Given the description of an element on the screen output the (x, y) to click on. 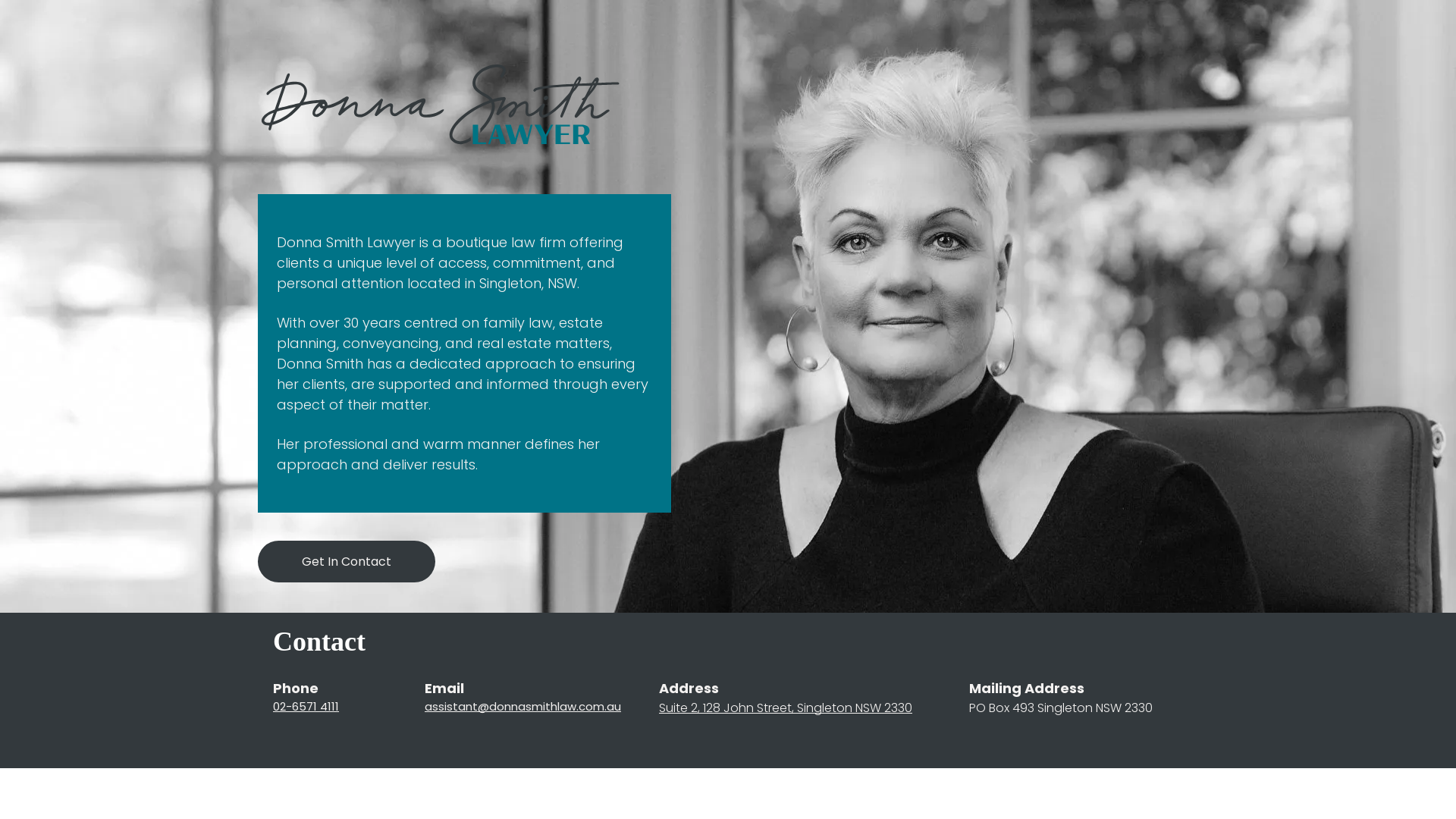
02-6571 4111 Element type: text (305, 706)
Get In Contact Element type: text (346, 561)
assistant@donnasmithlaw.com.au Element type: text (522, 706)
Suite 2, 128 John Street, Singleton NSW 2330 Element type: text (785, 707)
